Given the description of an element on the screen output the (x, y) to click on. 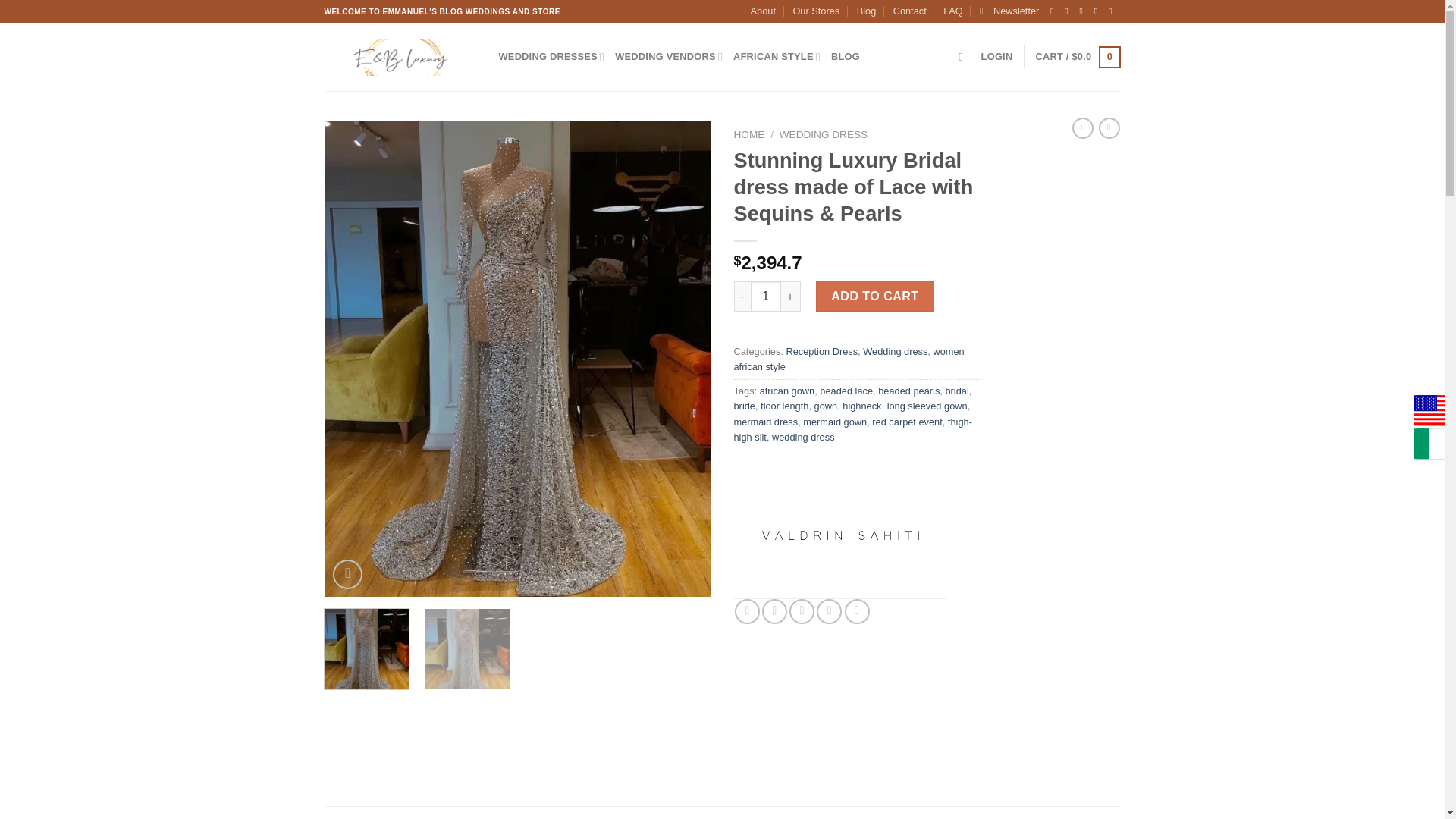
WEDDING DRESSES (552, 57)
Contact (909, 11)
Our Stores (816, 11)
Sign up for Newsletter (1009, 11)
About (763, 11)
EsB Store - Pan African Online Store For Custom Made Dresses (400, 56)
Cart (1077, 57)
1 (765, 296)
Newsletter (1009, 11)
Zoom (347, 573)
